Given the description of an element on the screen output the (x, y) to click on. 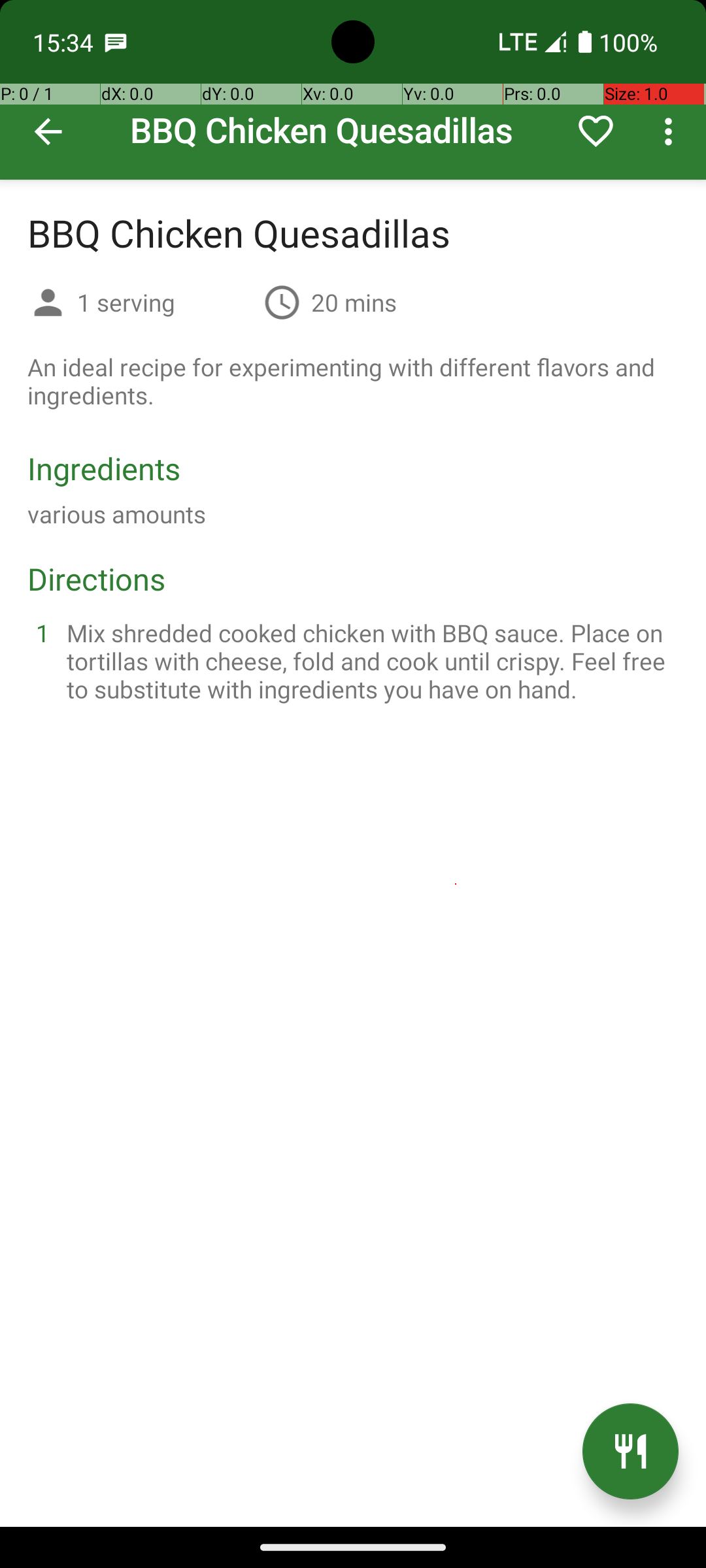
Mix shredded cooked chicken with BBQ sauce. Place on tortillas with cheese, fold and cook until crispy. Feel free to substitute with ingredients you have on hand. Element type: android.widget.TextView (368, 660)
SMS Messenger notification: Isla da Silva Element type: android.widget.ImageView (115, 41)
